Given the description of an element on the screen output the (x, y) to click on. 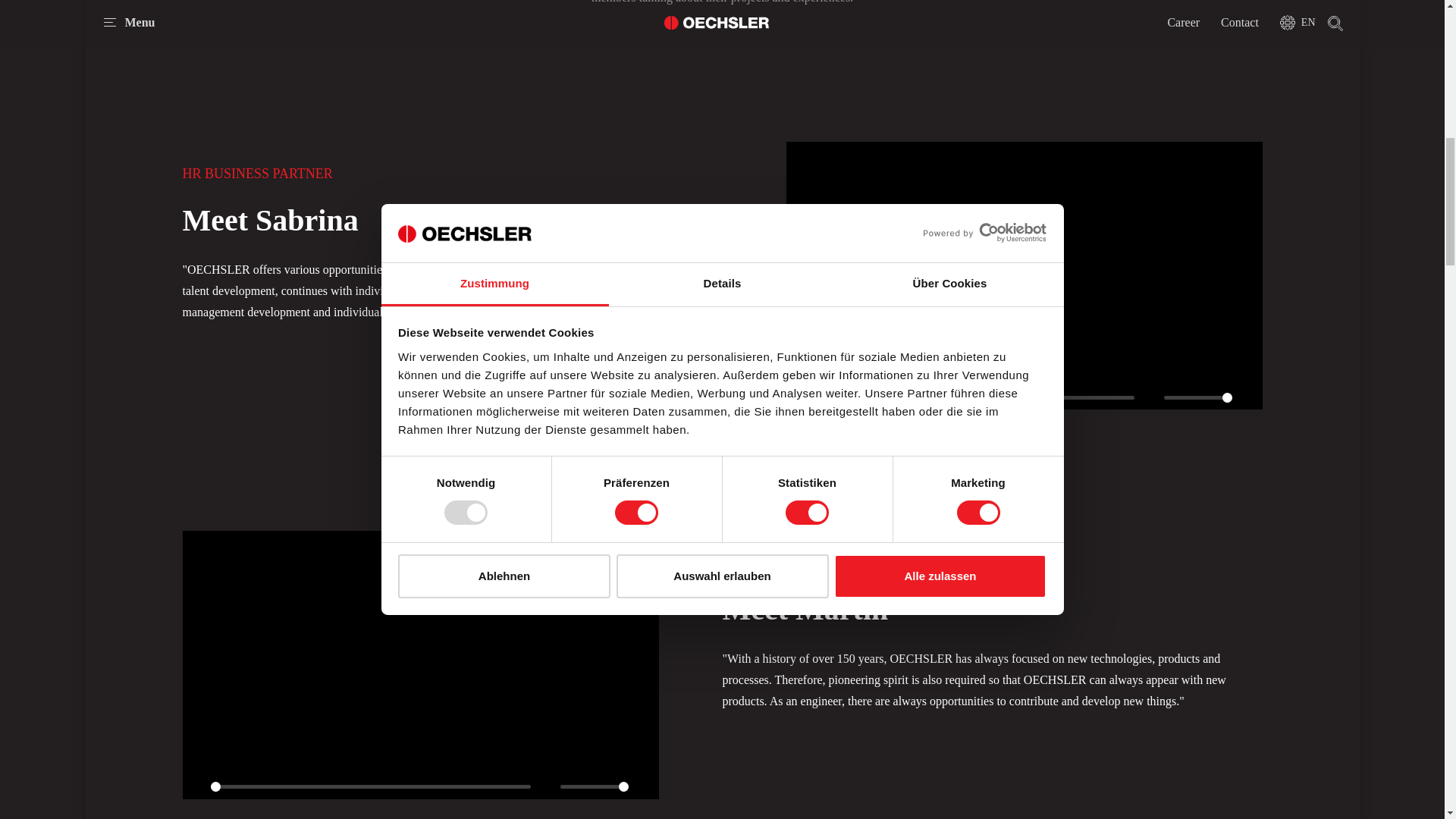
1 (1197, 397)
0 (371, 786)
1 (594, 786)
0 (973, 397)
